Given the description of an element on the screen output the (x, y) to click on. 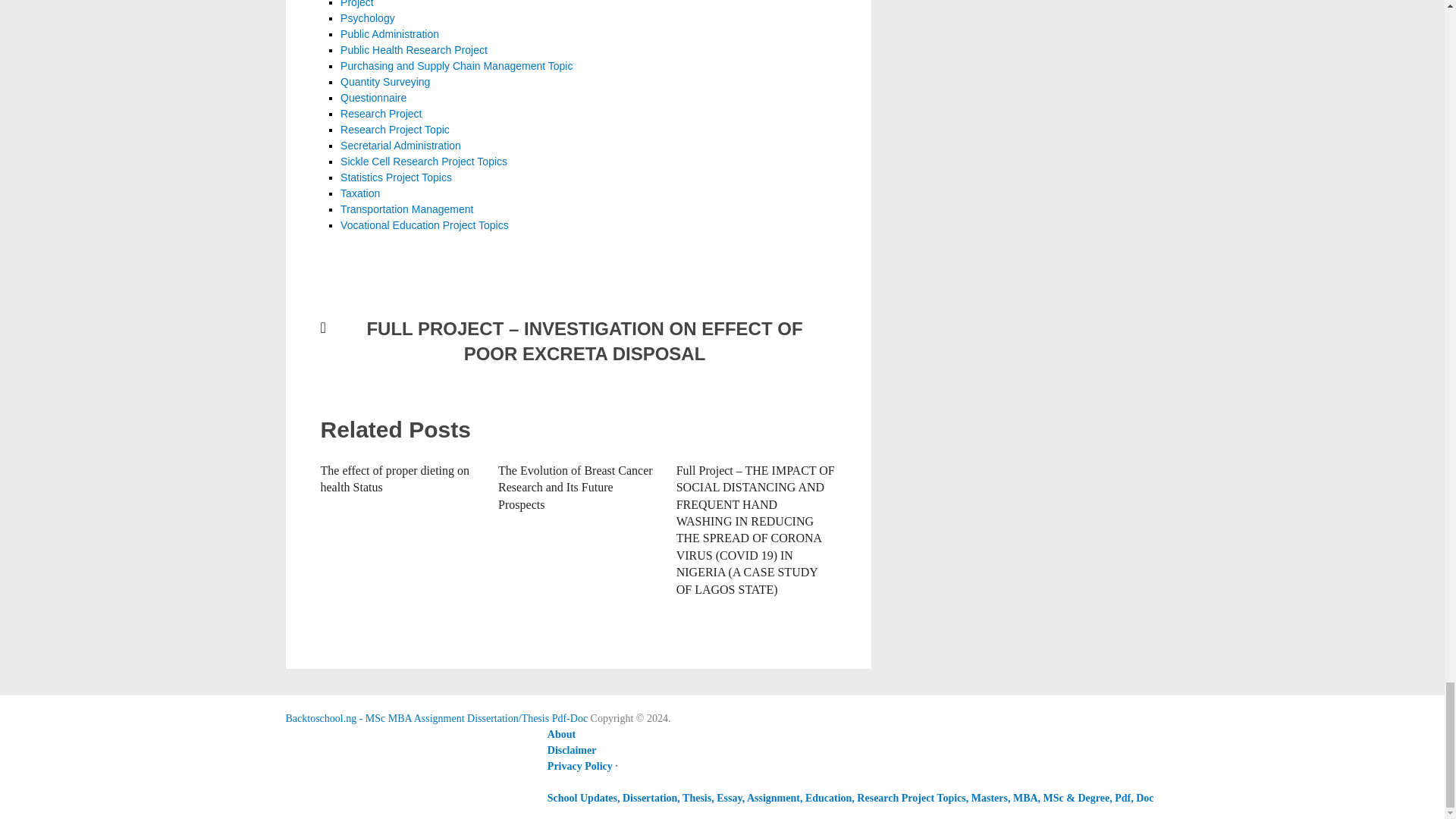
The effect of proper dieting on health Status (394, 478)
